Given the description of an element on the screen output the (x, y) to click on. 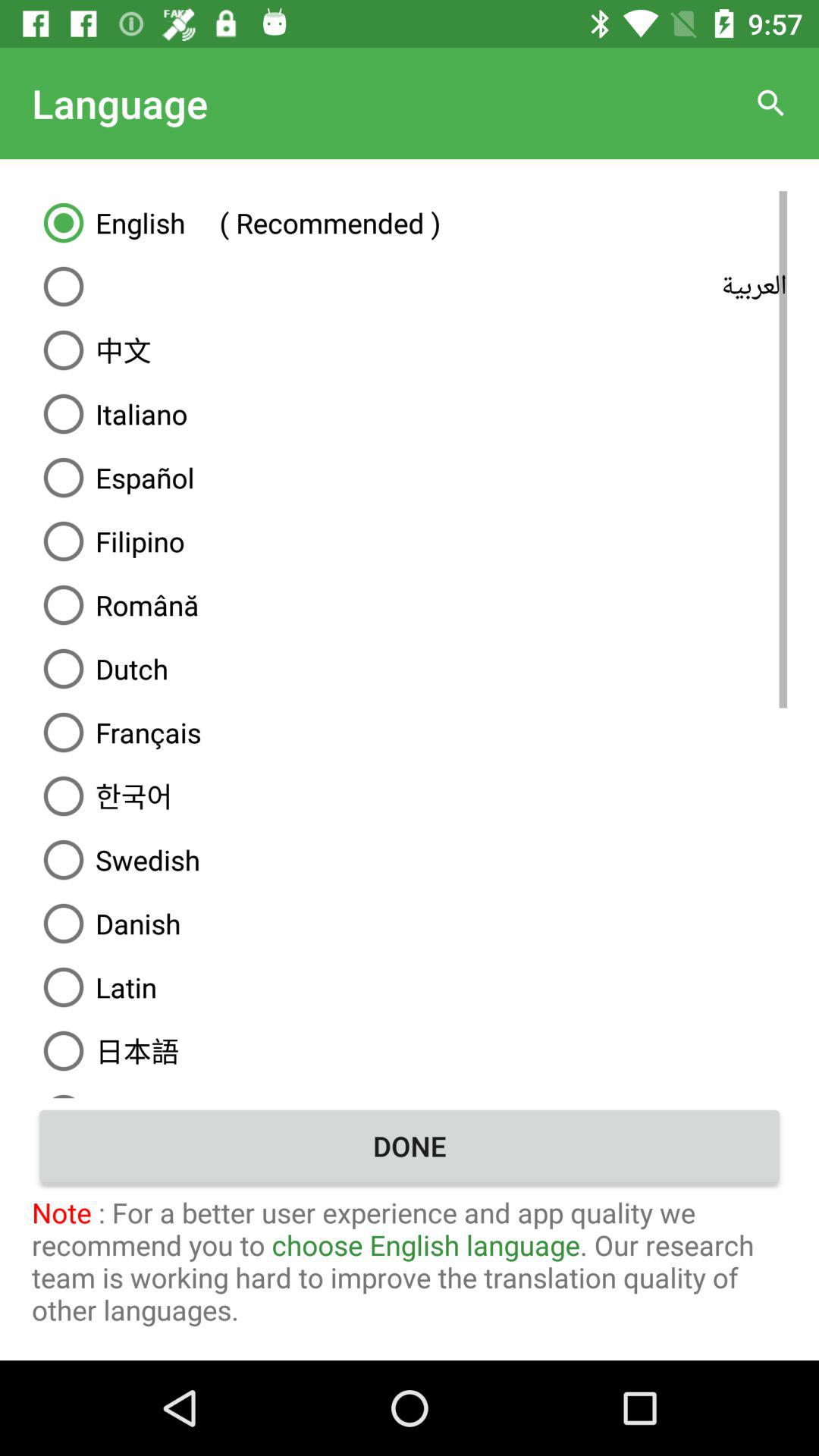
launch the icon below english     ( recommended ) item (409, 286)
